Given the description of an element on the screen output the (x, y) to click on. 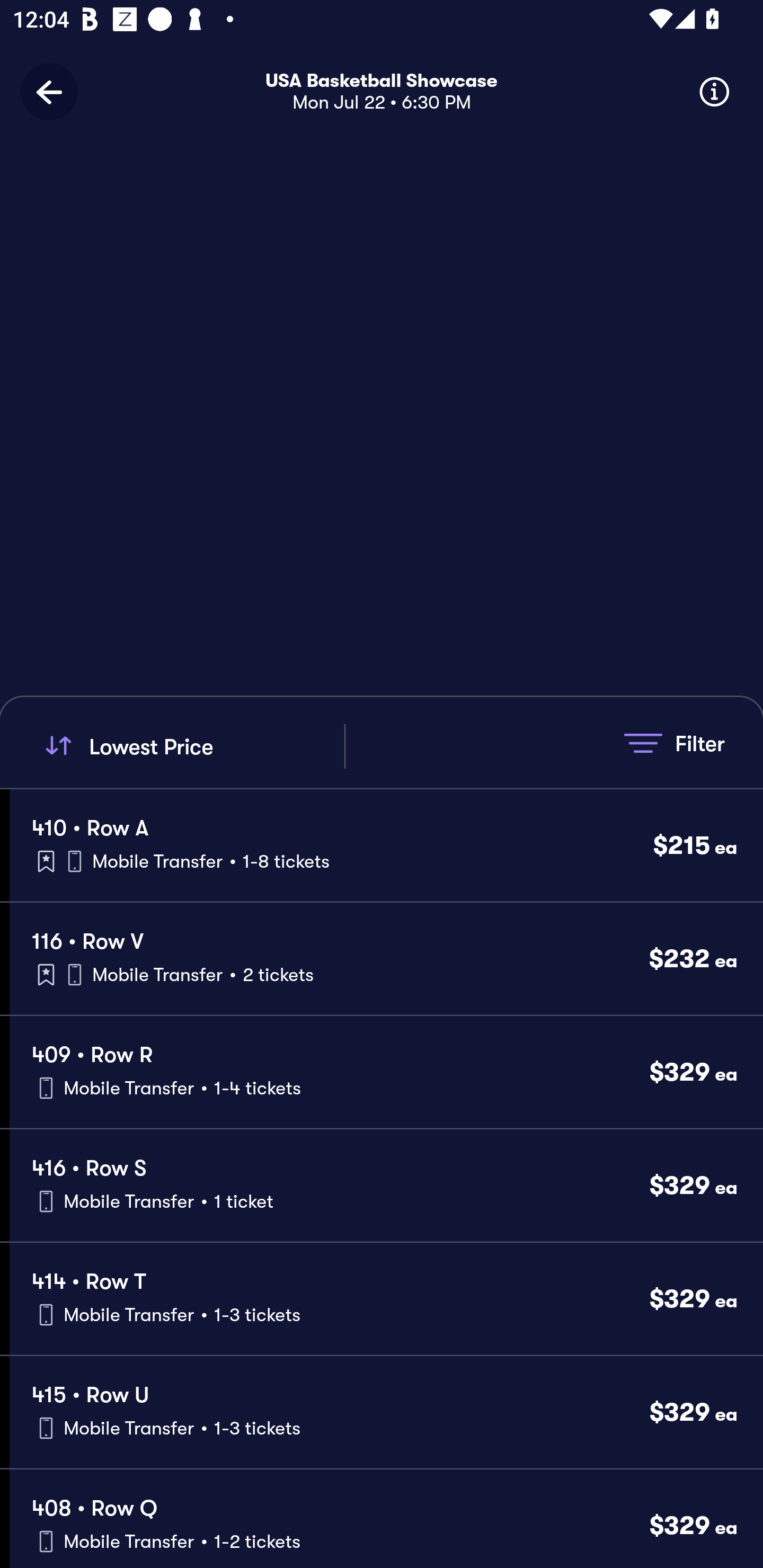
Lowest Price (191, 746)
Filter (674, 743)
410 • Row A Mobile Transfer • 1-8 tickets $215 ea (386, 844)
116 • Row V Mobile Transfer • 2 tickets $232 ea (386, 958)
409 • Row R Mobile Transfer • 1-4 tickets $329 ea (386, 1071)
416 • Row S Mobile Transfer • 1 ticket $329 ea (386, 1184)
414 • Row T Mobile Transfer • 1-3 tickets $329 ea (386, 1298)
415 • Row U Mobile Transfer • 1-3 tickets $329 ea (386, 1411)
408 • Row Q Mobile Transfer • 1-2 tickets $329 ea (386, 1518)
